Given the description of an element on the screen output the (x, y) to click on. 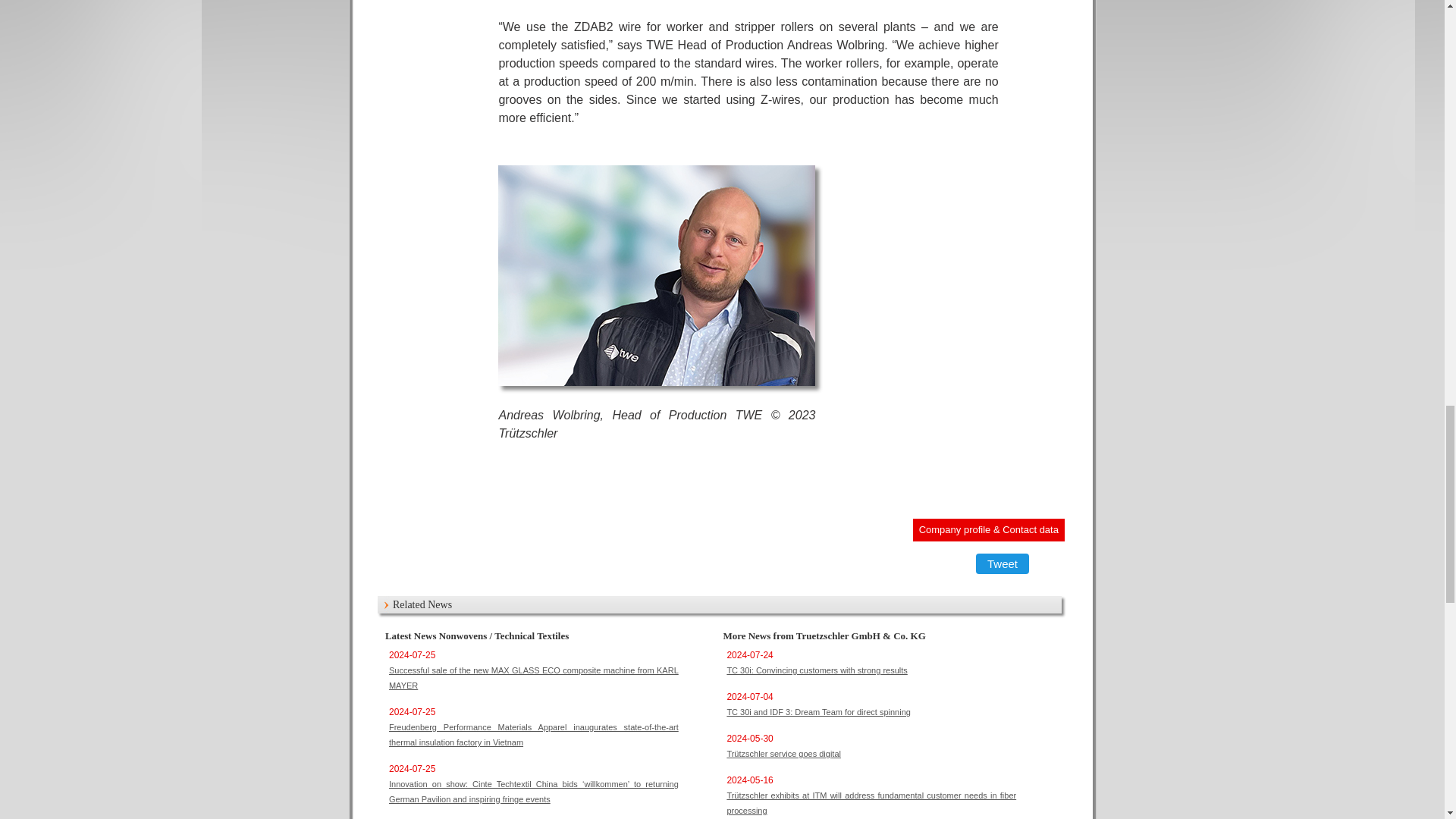
Spinning - TC 30i and IDF 3: Dream Team for direct spinning (818, 711)
Spinning - TC 30i: Convincing customers with strong results (816, 669)
